Given the description of an element on the screen output the (x, y) to click on. 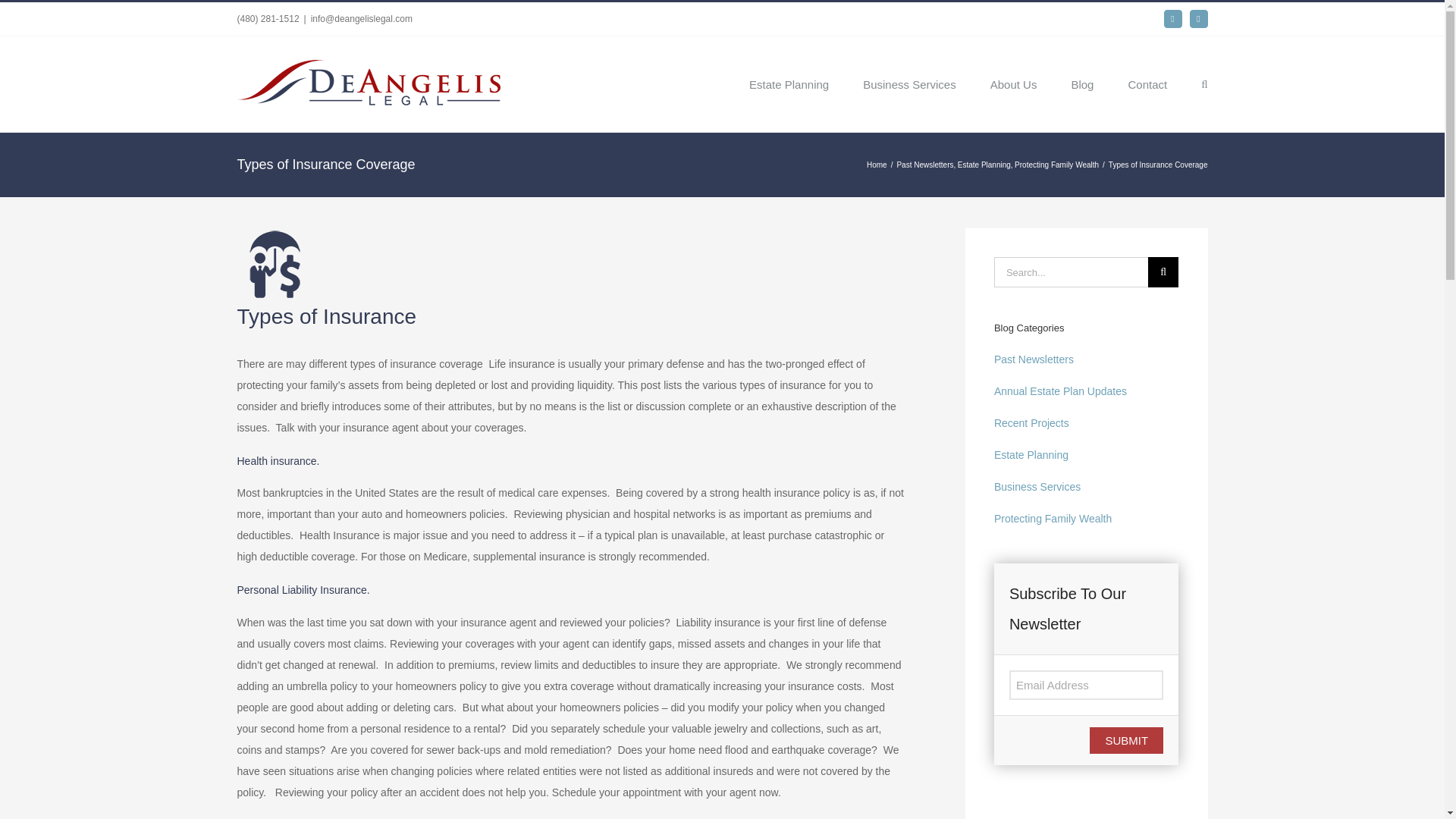
Facebook (1172, 18)
Business Services (909, 83)
LinkedIn (1198, 18)
Facebook (1172, 18)
LinkedIn (1198, 18)
